Given the description of an element on the screen output the (x, y) to click on. 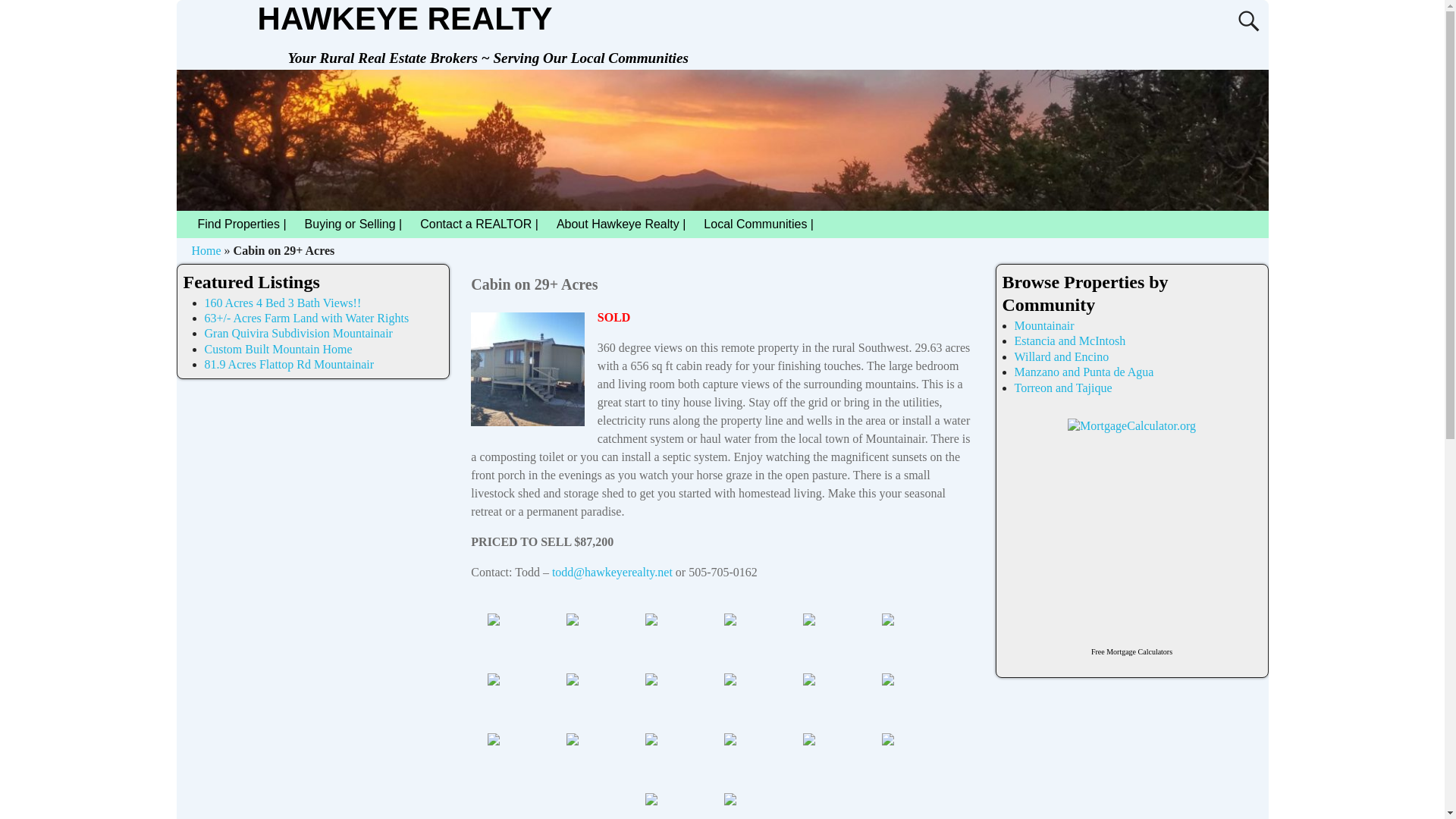
HAWKEYE REALTY (404, 18)
Home (205, 250)
HAWKEYE REALTY (404, 18)
